Given the description of an element on the screen output the (x, y) to click on. 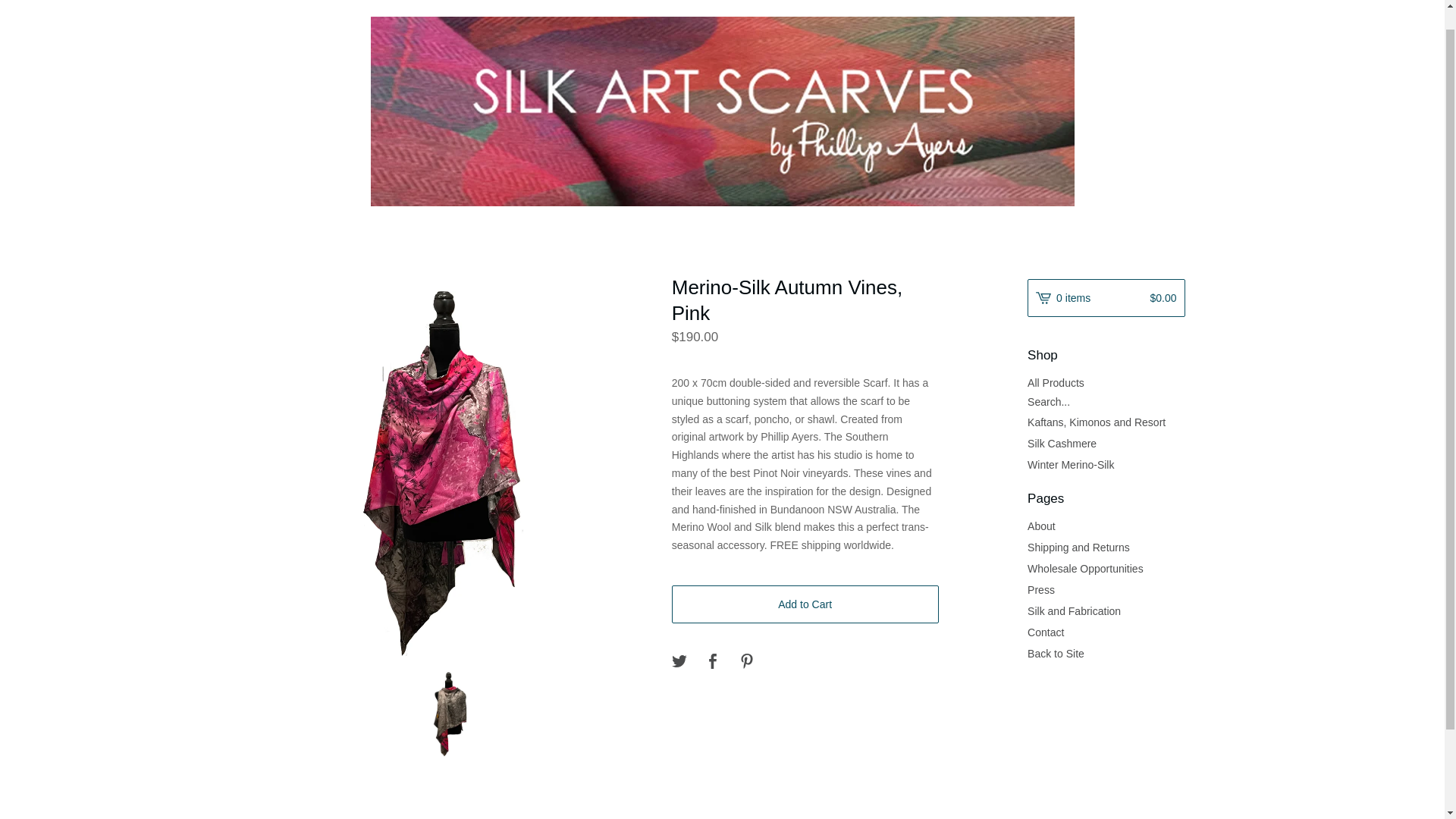
Silk and Fabrication (1106, 610)
View Press (1106, 589)
Shipping and Returns (1106, 547)
Contact (1106, 631)
Wholesale Opportunities (1106, 568)
View About (1106, 526)
About (1106, 526)
Winter Merino-Silk (1106, 464)
View Silk and Fabrication (1106, 610)
Add to Cart (805, 604)
Silk Art Scarves (721, 111)
Back to Site (1106, 653)
Press (1106, 589)
View Kaftans, Kimonos and Resort (1106, 422)
All Products (1106, 382)
